Given the description of an element on the screen output the (x, y) to click on. 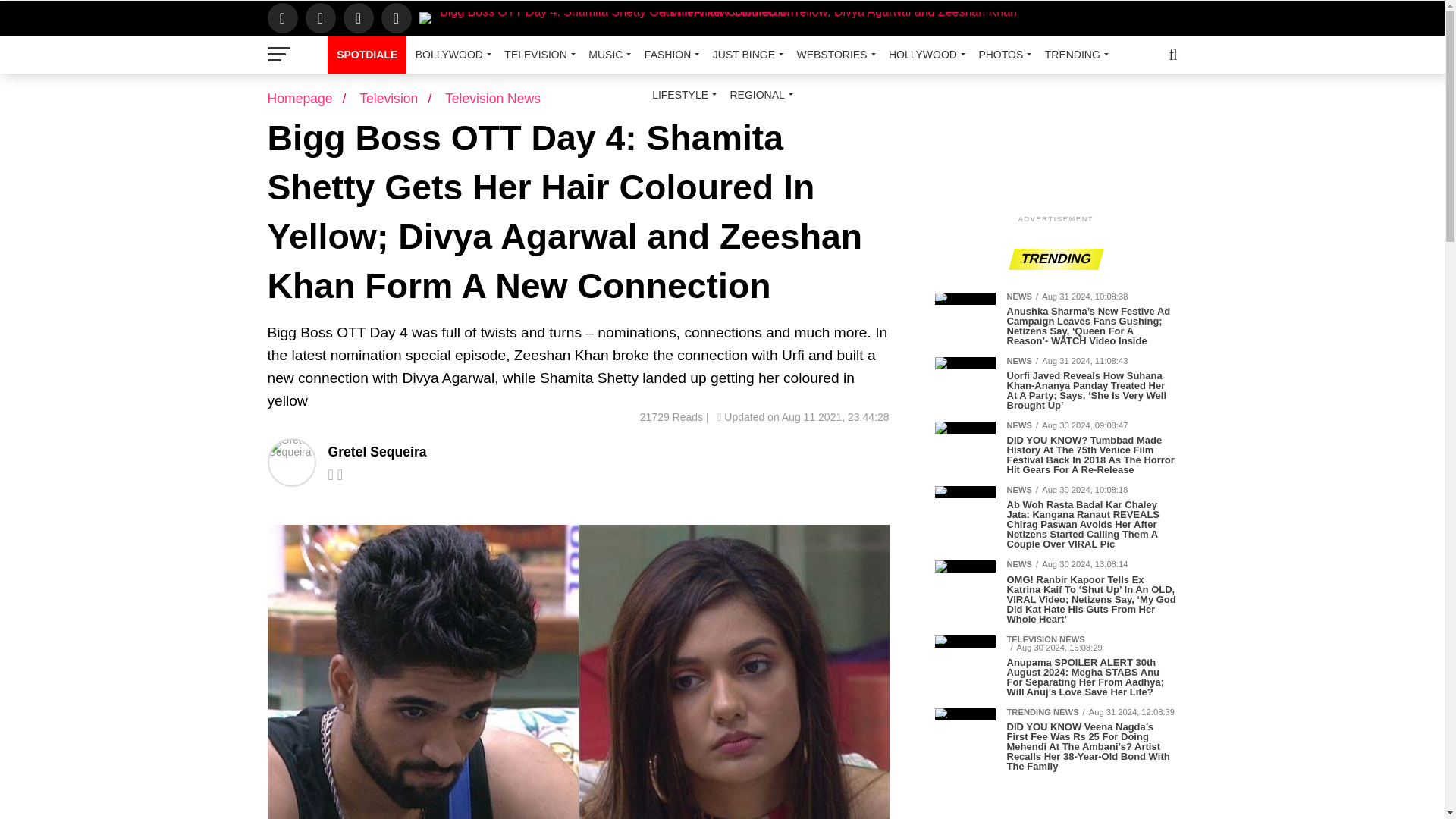
FASHION (668, 54)
TELEVISION (537, 54)
JUST BINGE (745, 54)
BOLLYWOOD (451, 54)
MUSIC (606, 54)
HOLLYWOOD (924, 54)
Posts by  Gretel Sequeira  (376, 451)
REGIONAL (758, 94)
SPOTDIALE (366, 54)
LIFESTYLE (681, 94)
